Given the description of an element on the screen output the (x, y) to click on. 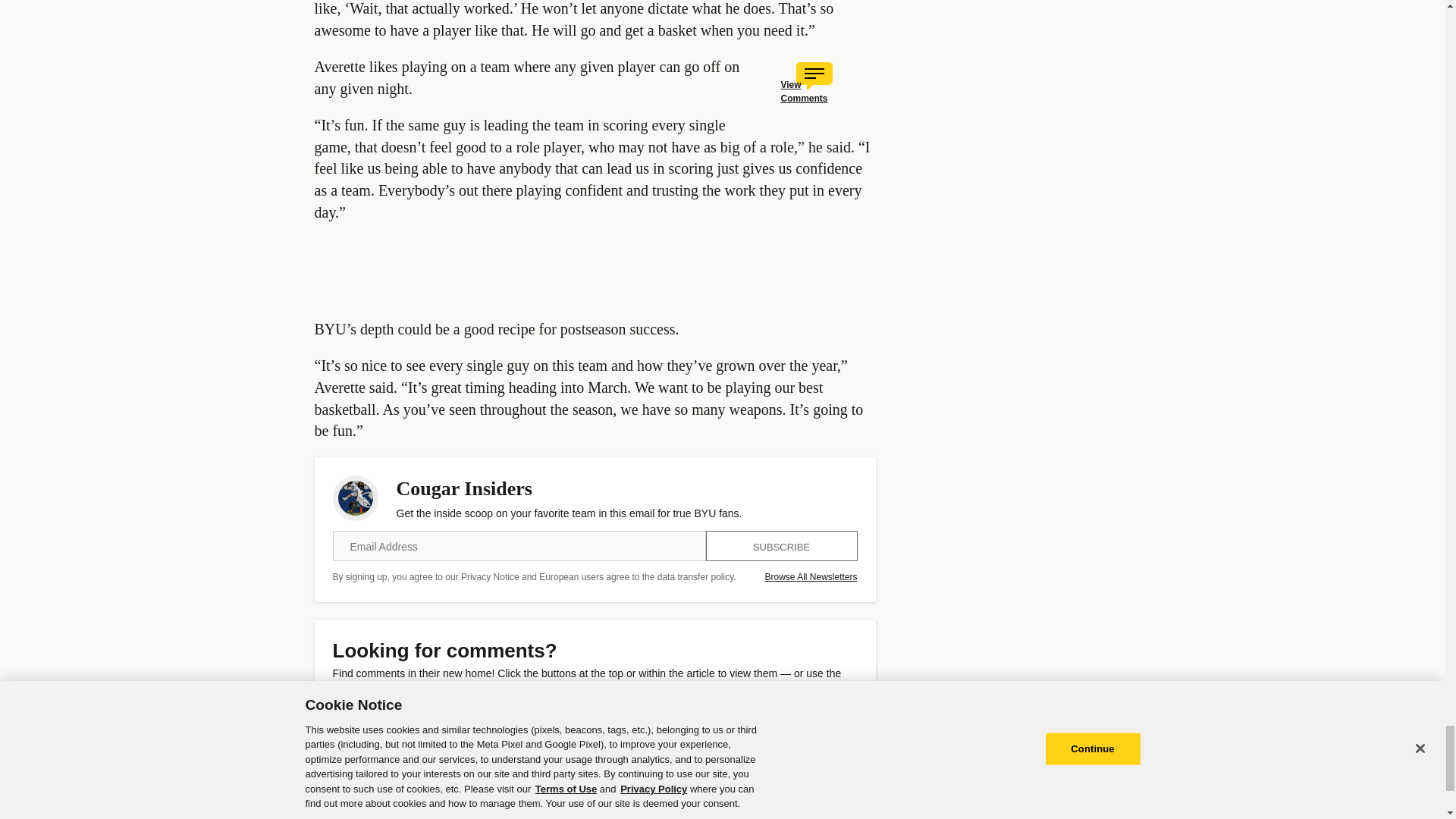
SUBSCRIBE (780, 545)
